Given the description of an element on the screen output the (x, y) to click on. 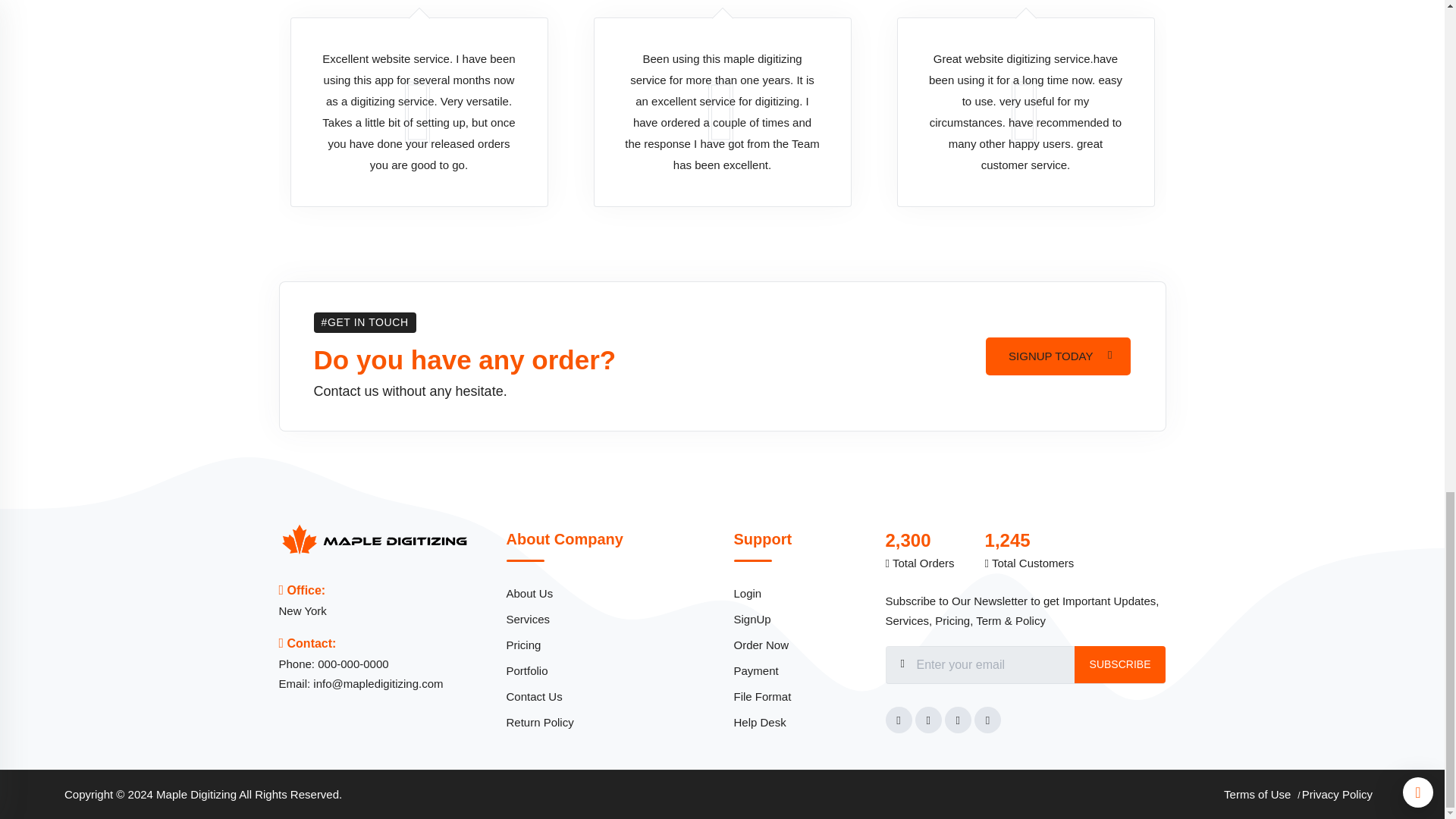
About Us (608, 593)
Portfolio (608, 670)
Contact Us (608, 696)
SignUp (798, 619)
Payment (798, 670)
Pricing (608, 645)
Return Policy (608, 722)
Services (608, 619)
Order Now (798, 645)
SIGNUP TODAY (1058, 356)
Help Desk (798, 722)
Login (798, 593)
File Format (798, 696)
